Given the description of an element on the screen output the (x, y) to click on. 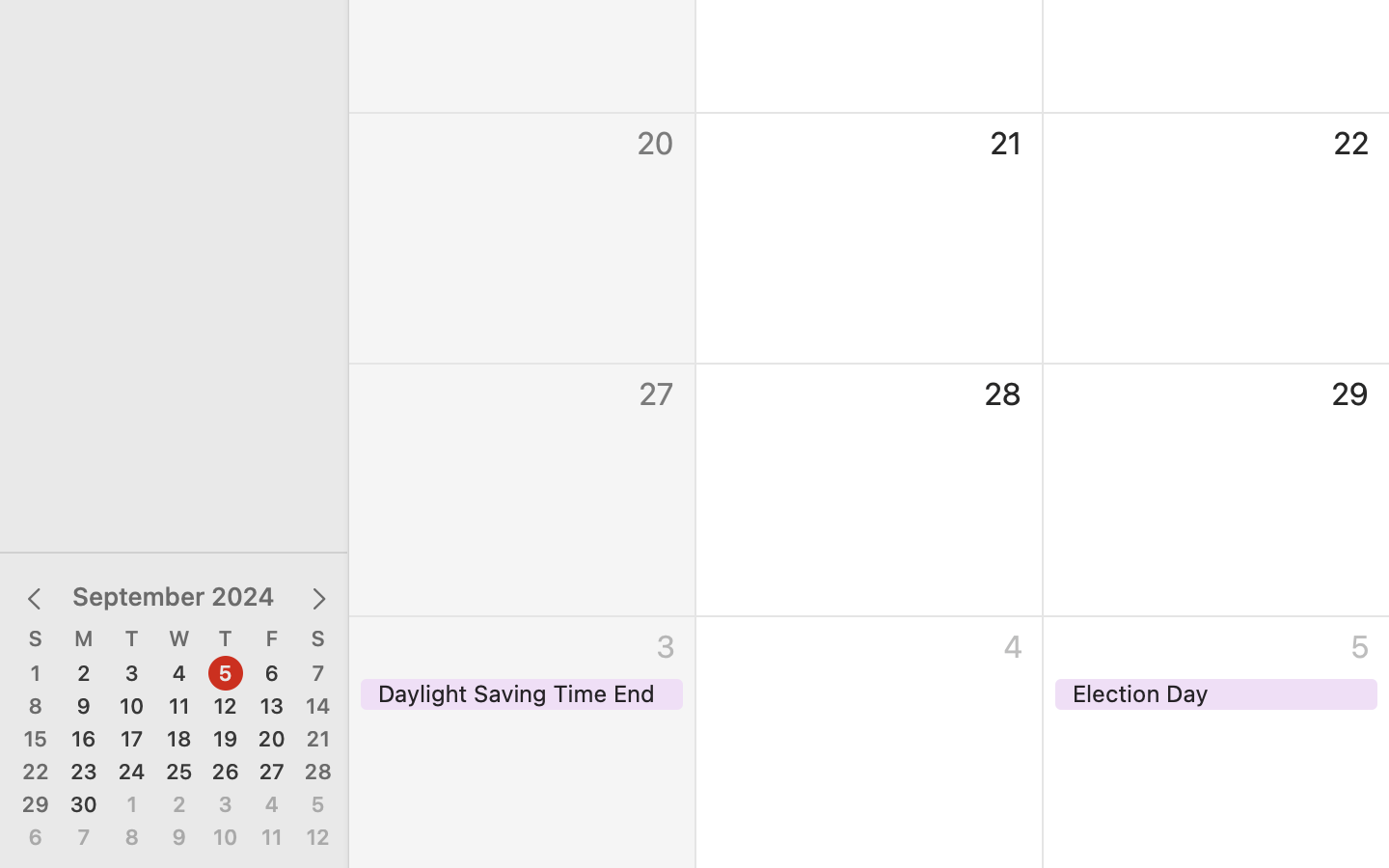
5 Element type: AXStaticText (225, 673)
10 Element type: AXStaticText (132, 706)
29 Element type: AXStaticText (35, 804)
24 Element type: AXStaticText (132, 772)
30 Element type: AXStaticText (83, 804)
